Given the description of an element on the screen output the (x, y) to click on. 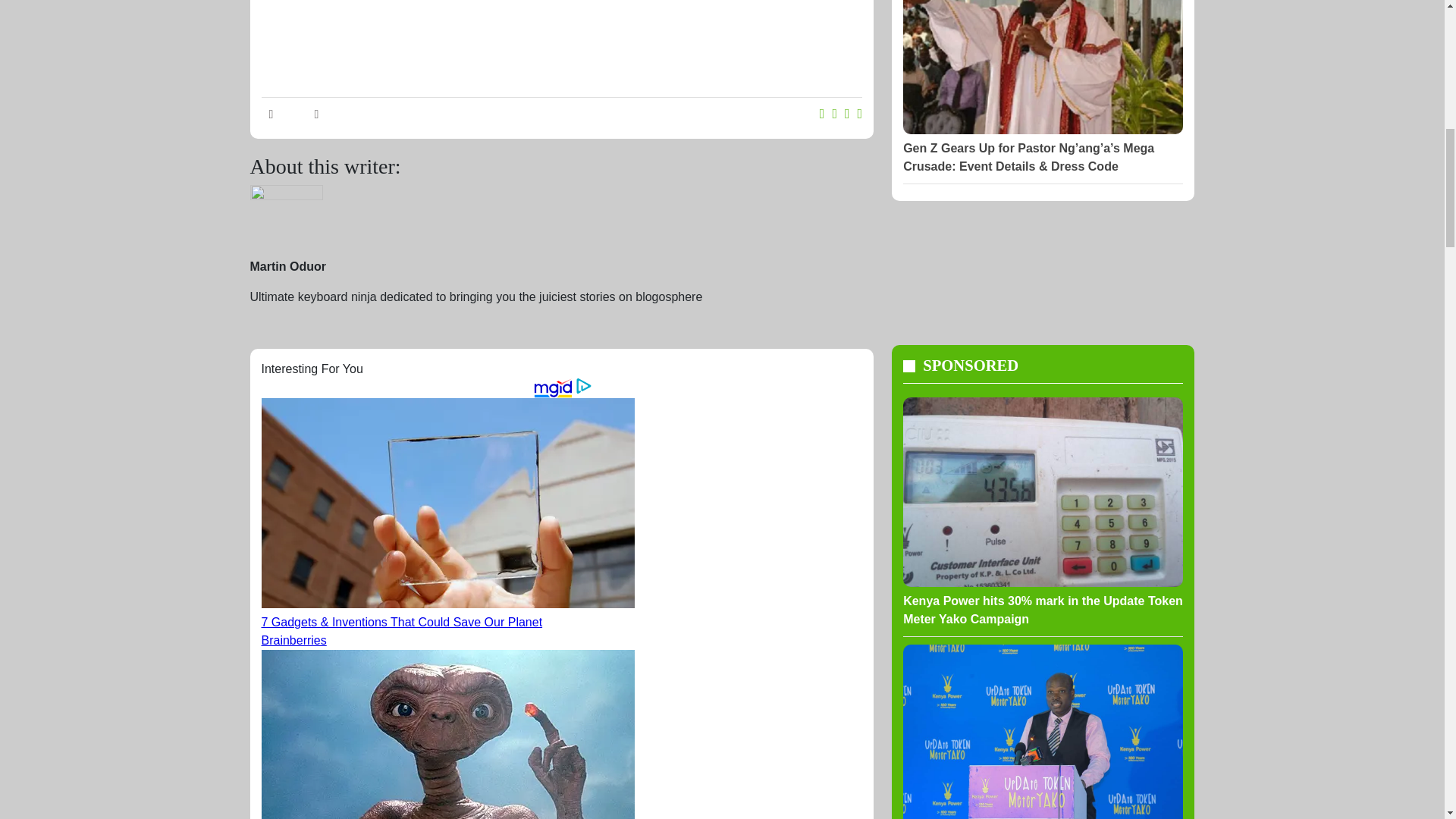
Kenya Power: Breaking Down the Token Meter Update Exercise (1042, 731)
Share by Email (860, 114)
